Given the description of an element on the screen output the (x, y) to click on. 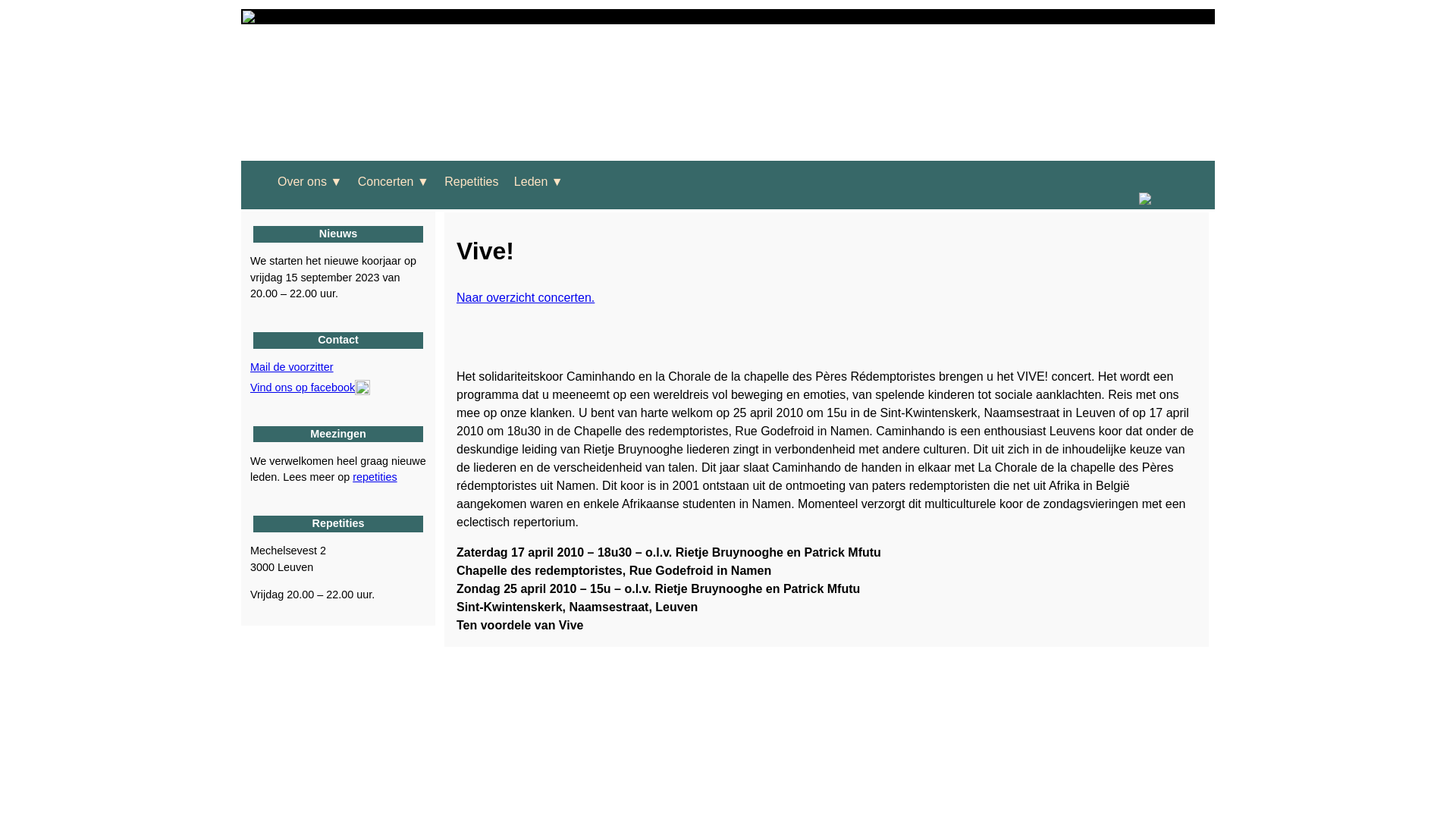
Leden Element type: text (531, 181)
Naar overzicht concerten. Element type: text (525, 297)
Vind ons op facebook Element type: text (310, 387)
Repetities Element type: text (471, 181)
Mail de voorzitter Element type: text (291, 366)
Over ons Element type: text (301, 181)
repetities Element type: text (374, 476)
